Given the description of an element on the screen output the (x, y) to click on. 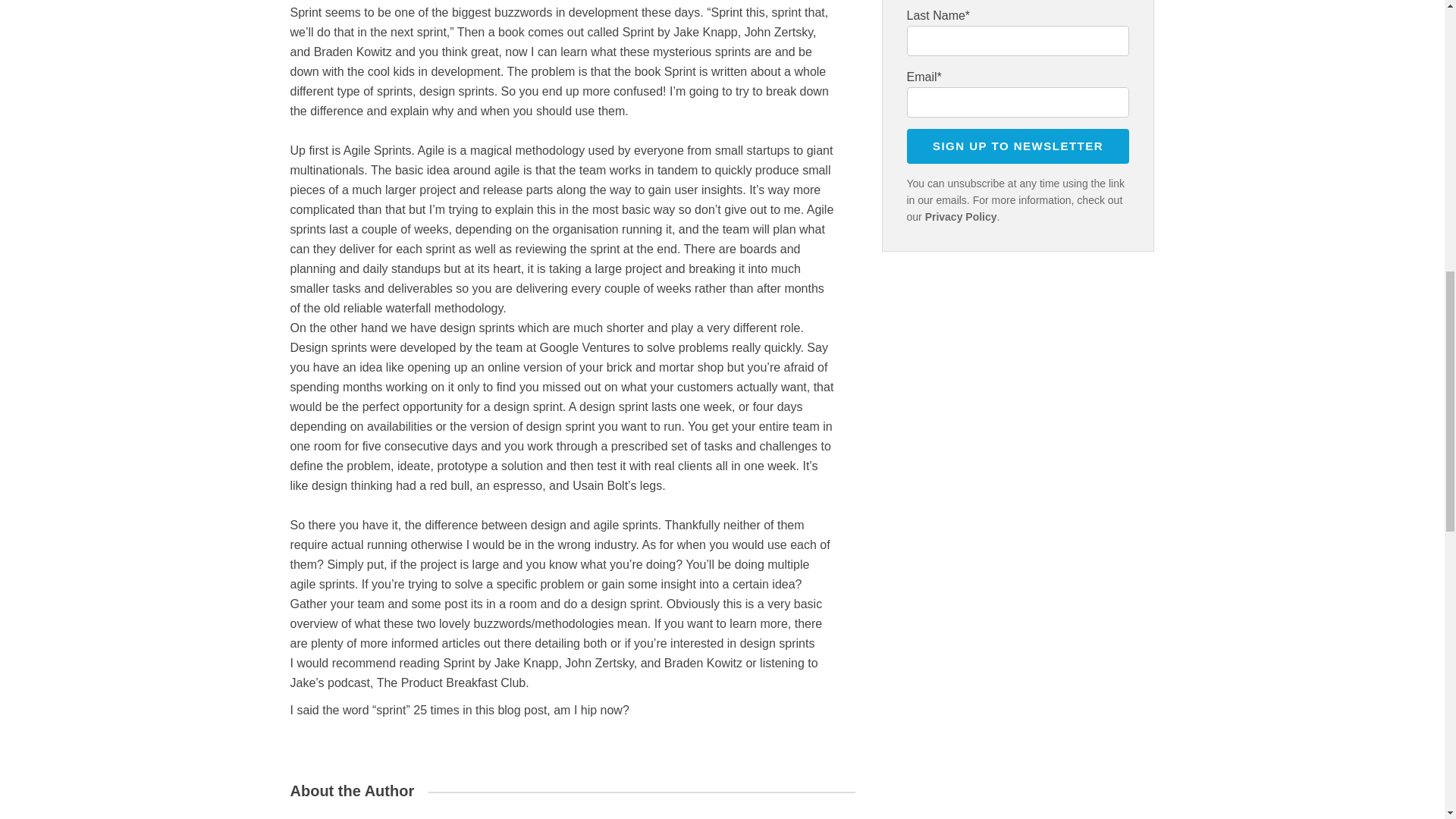
Privacy Policy (960, 216)
Sign Up to Newsletter (1018, 145)
Sign Up to Newsletter (1018, 145)
